Given the description of an element on the screen output the (x, y) to click on. 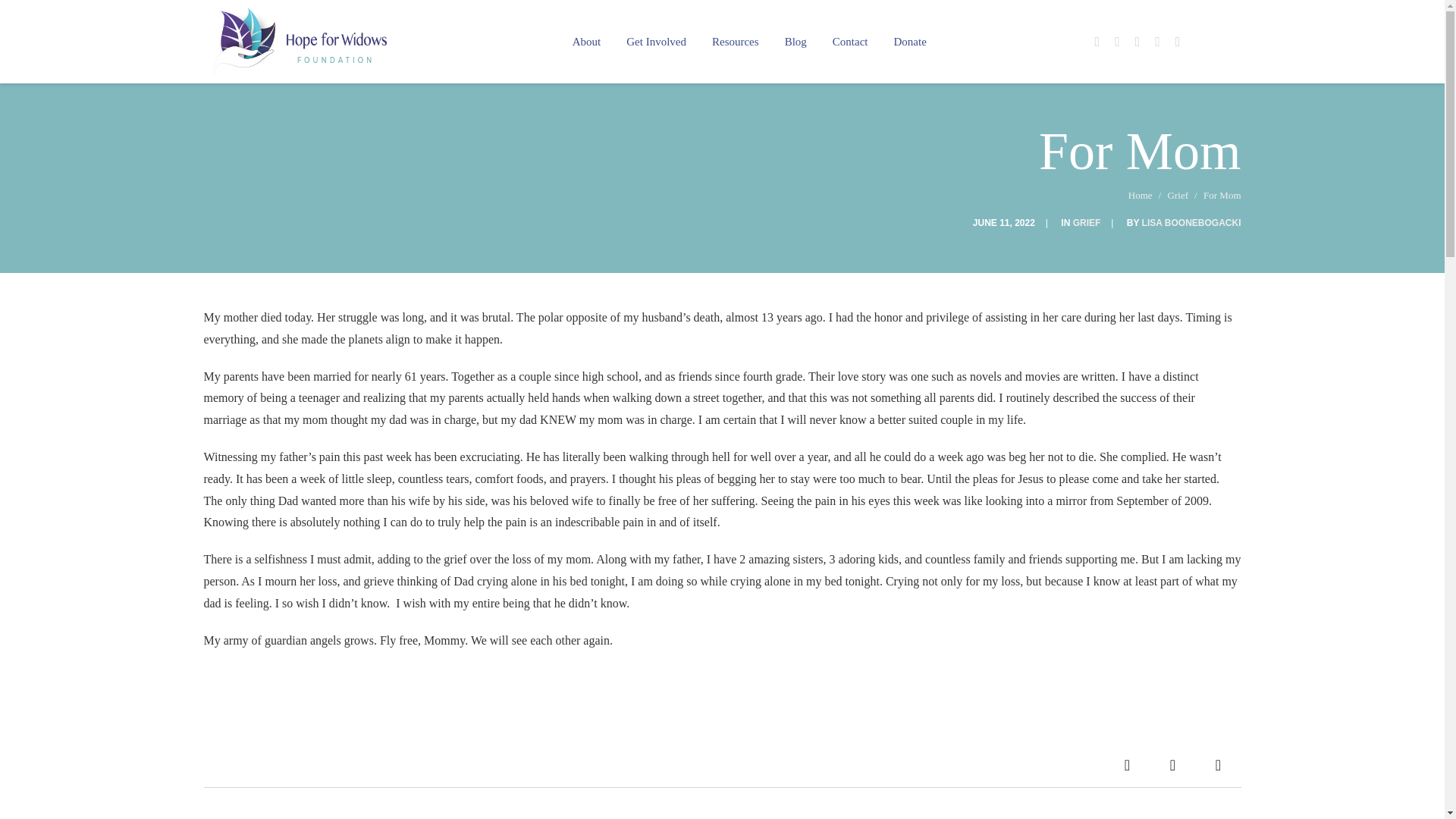
Pin this. (1217, 764)
Tweet this. (1172, 764)
Get Involved (655, 41)
Share this. (1126, 764)
